Given the description of an element on the screen output the (x, y) to click on. 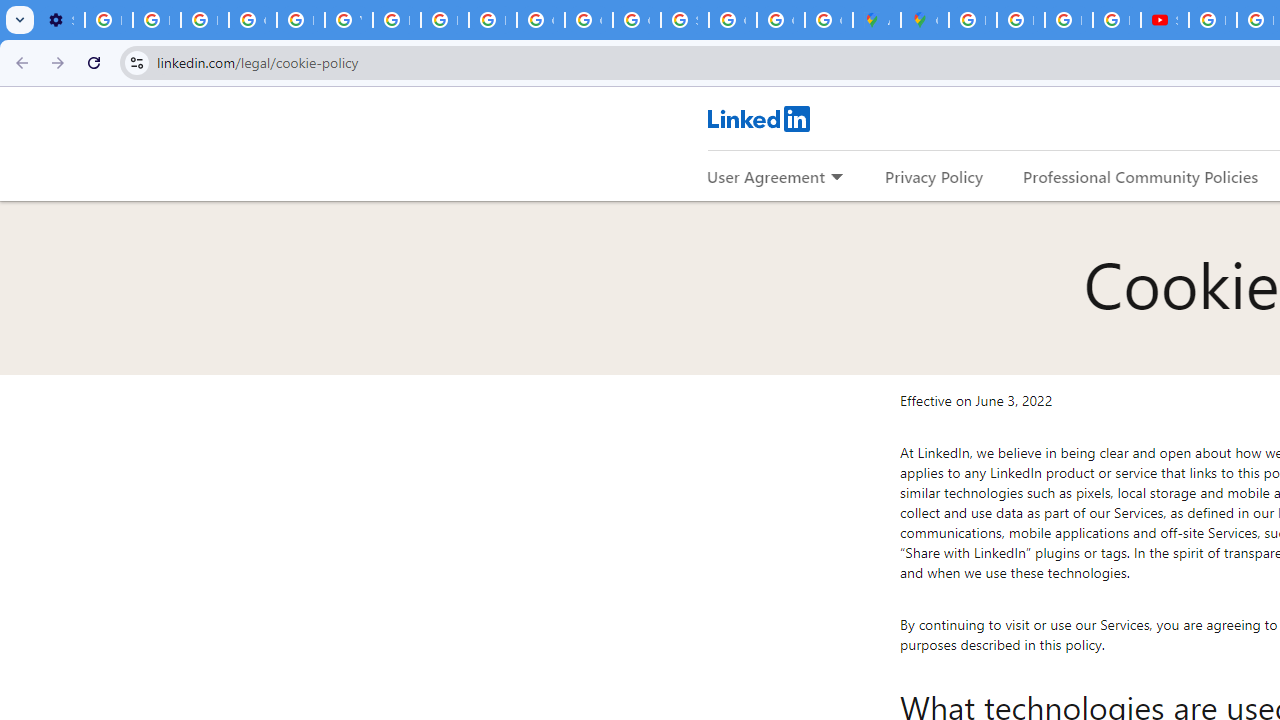
System (10, 11)
Sign in - Google Accounts (684, 20)
Settings - Customize profile (60, 20)
Delete photos & videos - Computer - Google Photos Help (108, 20)
Google Maps (924, 20)
Reload (93, 62)
Privacy Help Center - Policies Help (444, 20)
Expand to show more links for User Agreement (836, 178)
Forward (57, 62)
Google Account Help (252, 20)
https://scholar.google.com/ (396, 20)
Search tabs (20, 20)
Privacy Policy (934, 176)
